Given the description of an element on the screen output the (x, y) to click on. 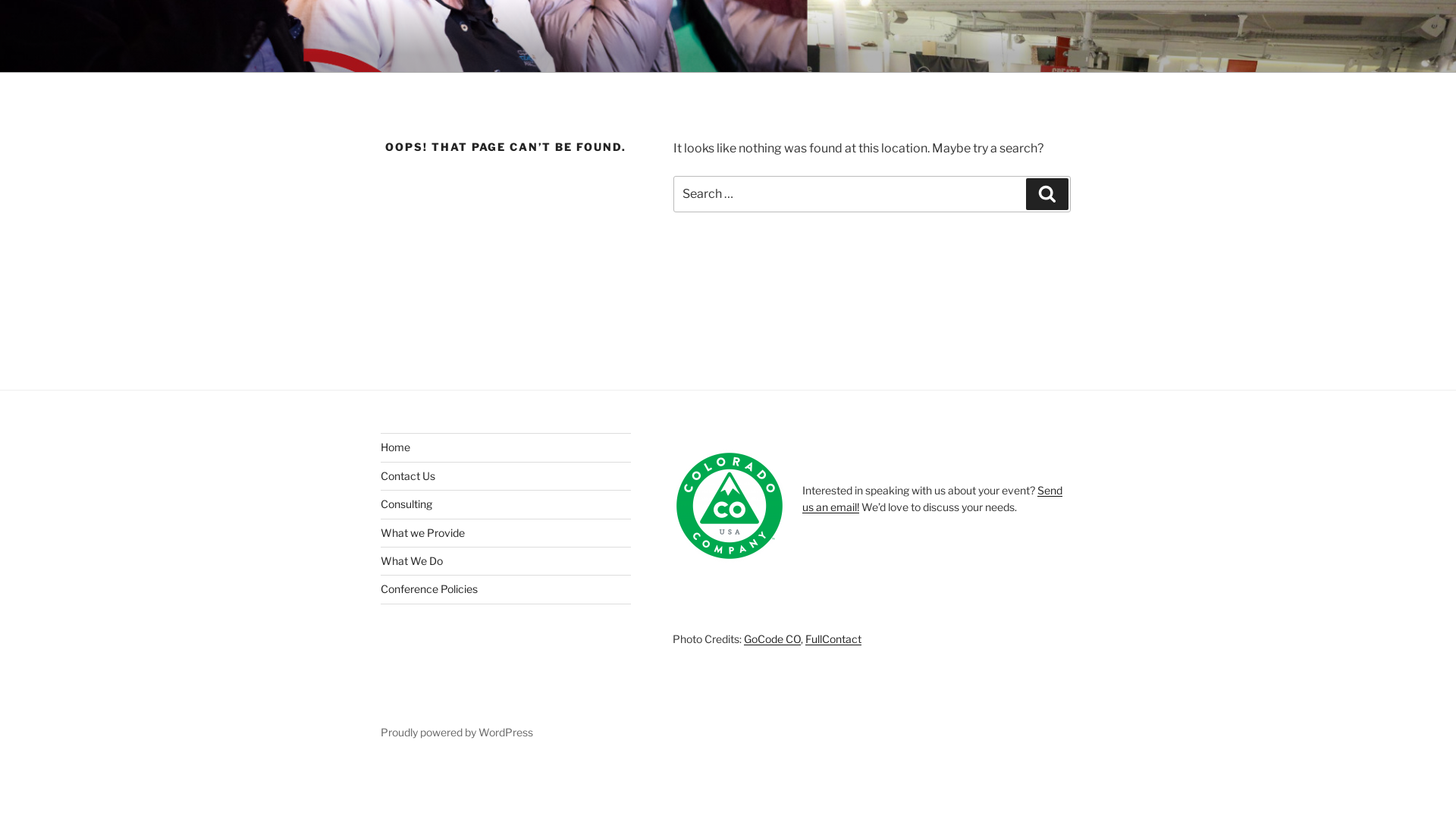
Consulting Element type: text (406, 503)
FullContact Element type: text (833, 638)
What we Provide Element type: text (422, 532)
GoCode CO Element type: text (771, 638)
Contact Us Element type: text (407, 475)
Search Element type: text (1047, 194)
Home Element type: text (395, 446)
360|CONFERENCES Element type: text (539, 52)
What We Do Element type: text (411, 560)
Send us an email! Element type: text (932, 498)
Proudly powered by WordPress Element type: text (456, 731)
Conference Policies Element type: text (428, 588)
